Given the description of an element on the screen output the (x, y) to click on. 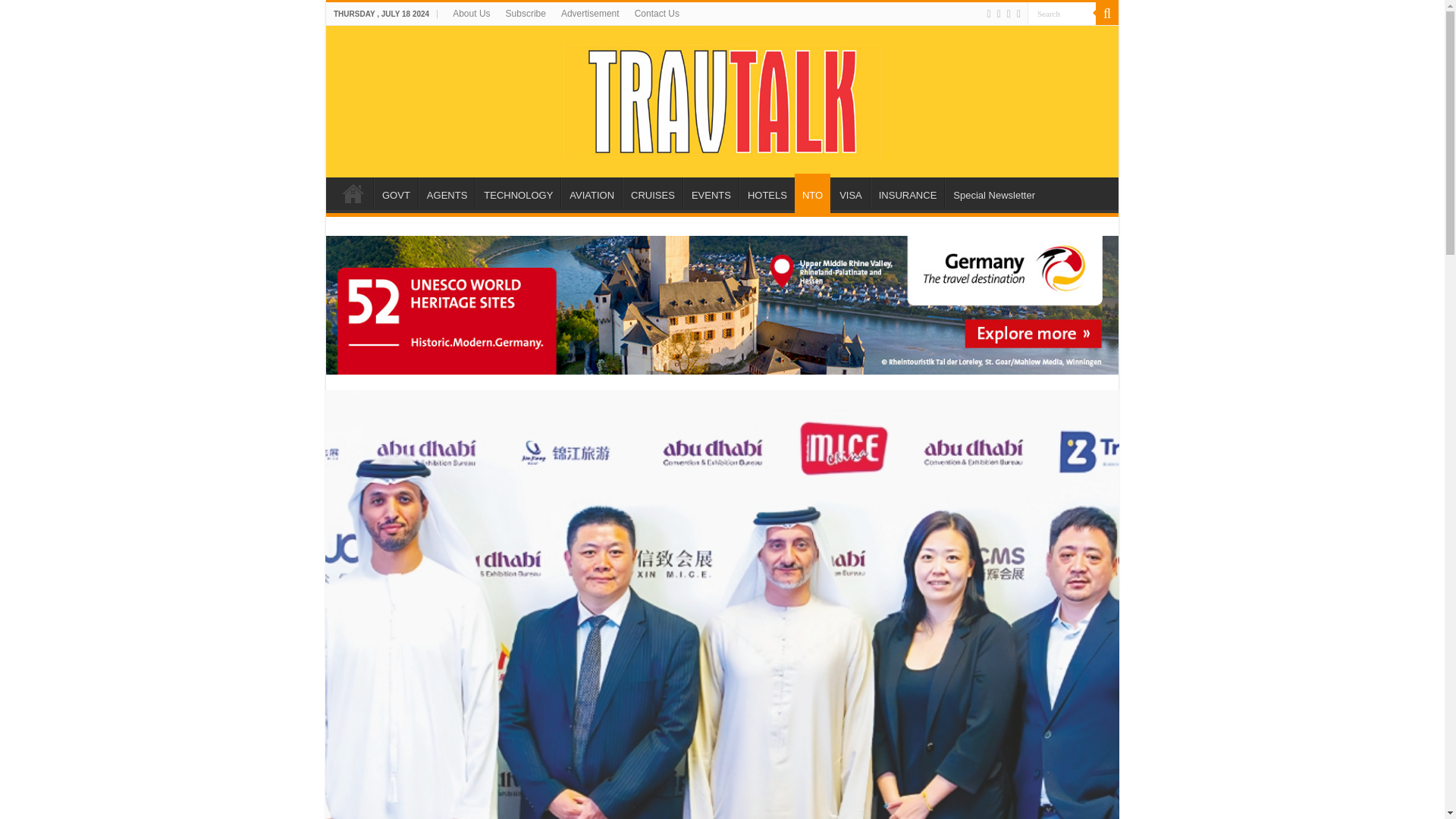
INSURANCE (907, 193)
About Us (471, 13)
AVIATION (590, 193)
GOVT (395, 193)
AGENTS (446, 193)
Advertisement (590, 13)
EVENTS (710, 193)
Search (1061, 13)
Search (1061, 13)
Contact Us (657, 13)
Search (1061, 13)
Search (1107, 13)
NTO (811, 192)
TECHNOLOGY (518, 193)
CRUISES (652, 193)
